Given the description of an element on the screen output the (x, y) to click on. 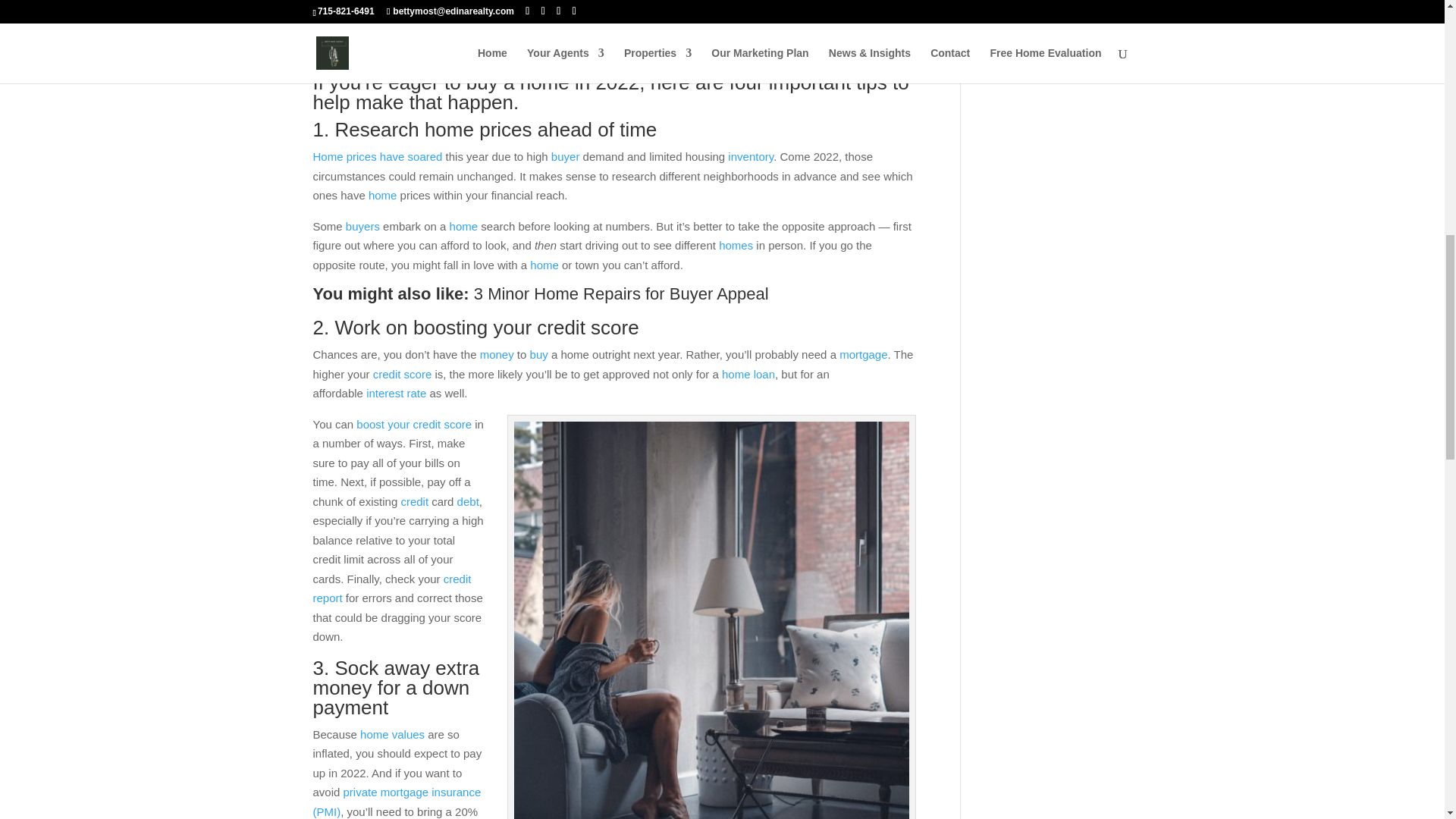
Home prices have soared (377, 155)
inventory (750, 155)
buy a home (681, 15)
equity (411, 35)
buyer (565, 155)
buy (481, 82)
